Given the description of an element on the screen output the (x, y) to click on. 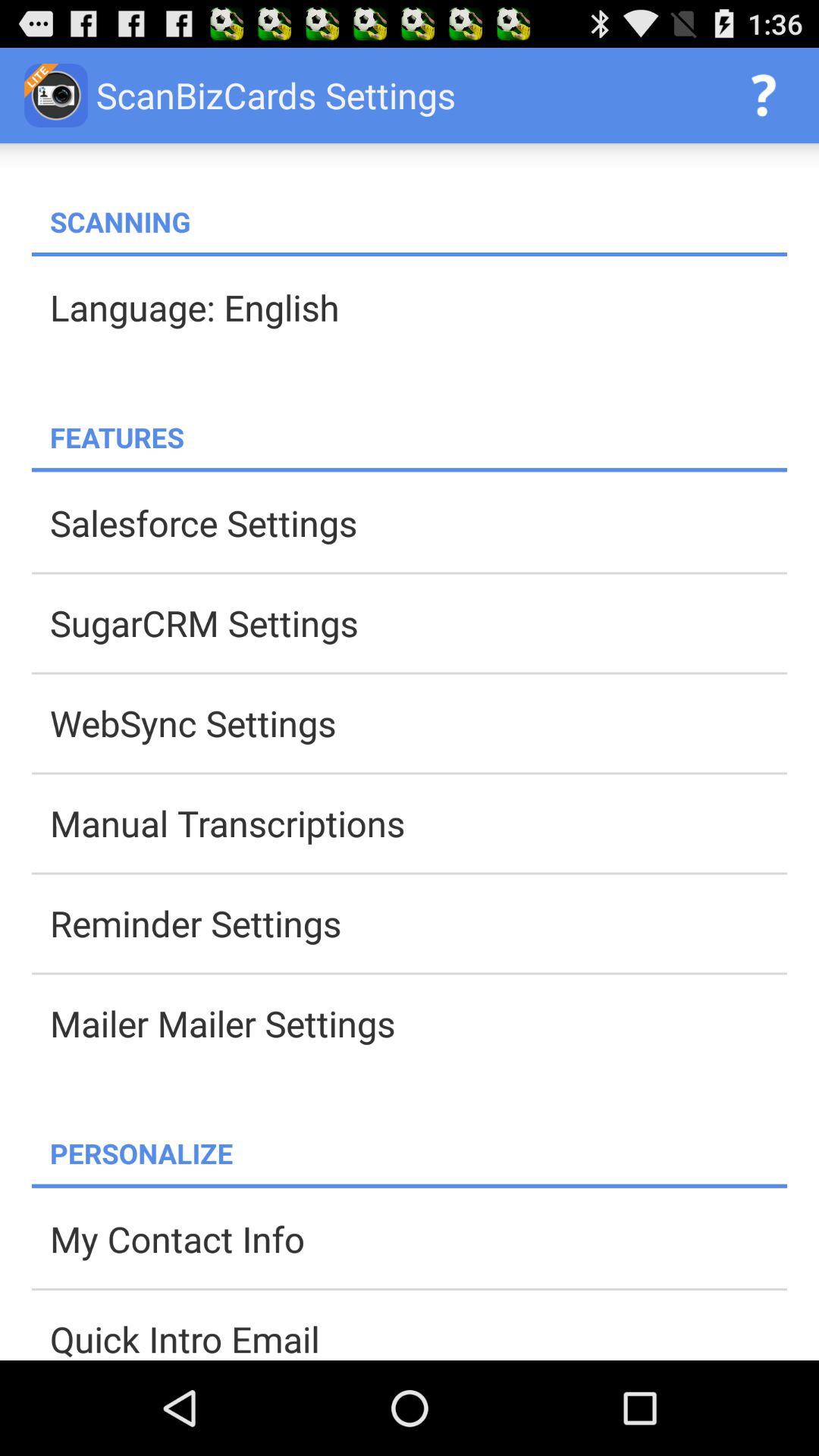
turn on app below mailer mailer settings app (418, 1153)
